Given the description of an element on the screen output the (x, y) to click on. 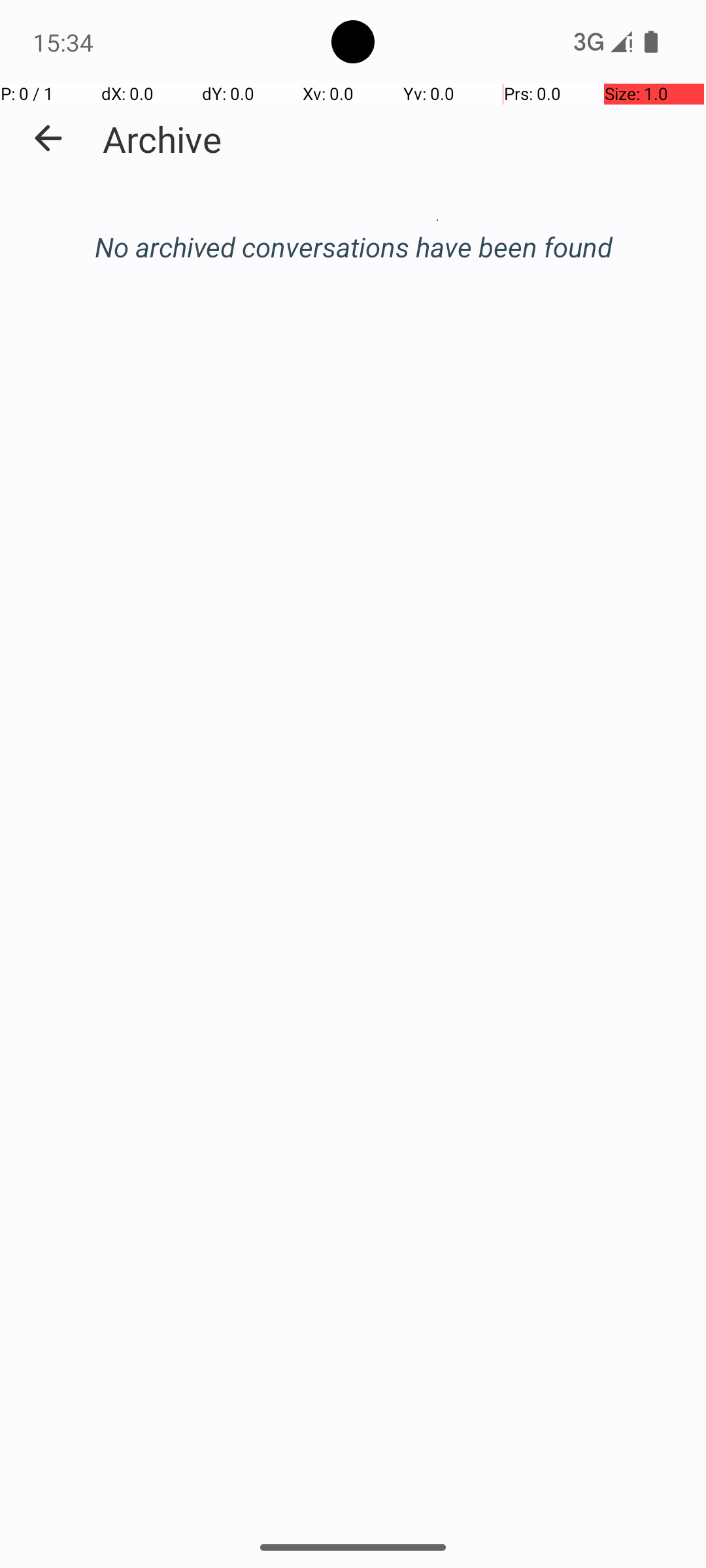
Archive Element type: android.widget.TextView (162, 138)
No archived conversations have been found Element type: android.widget.TextView (353, 246)
